Given the description of an element on the screen output the (x, y) to click on. 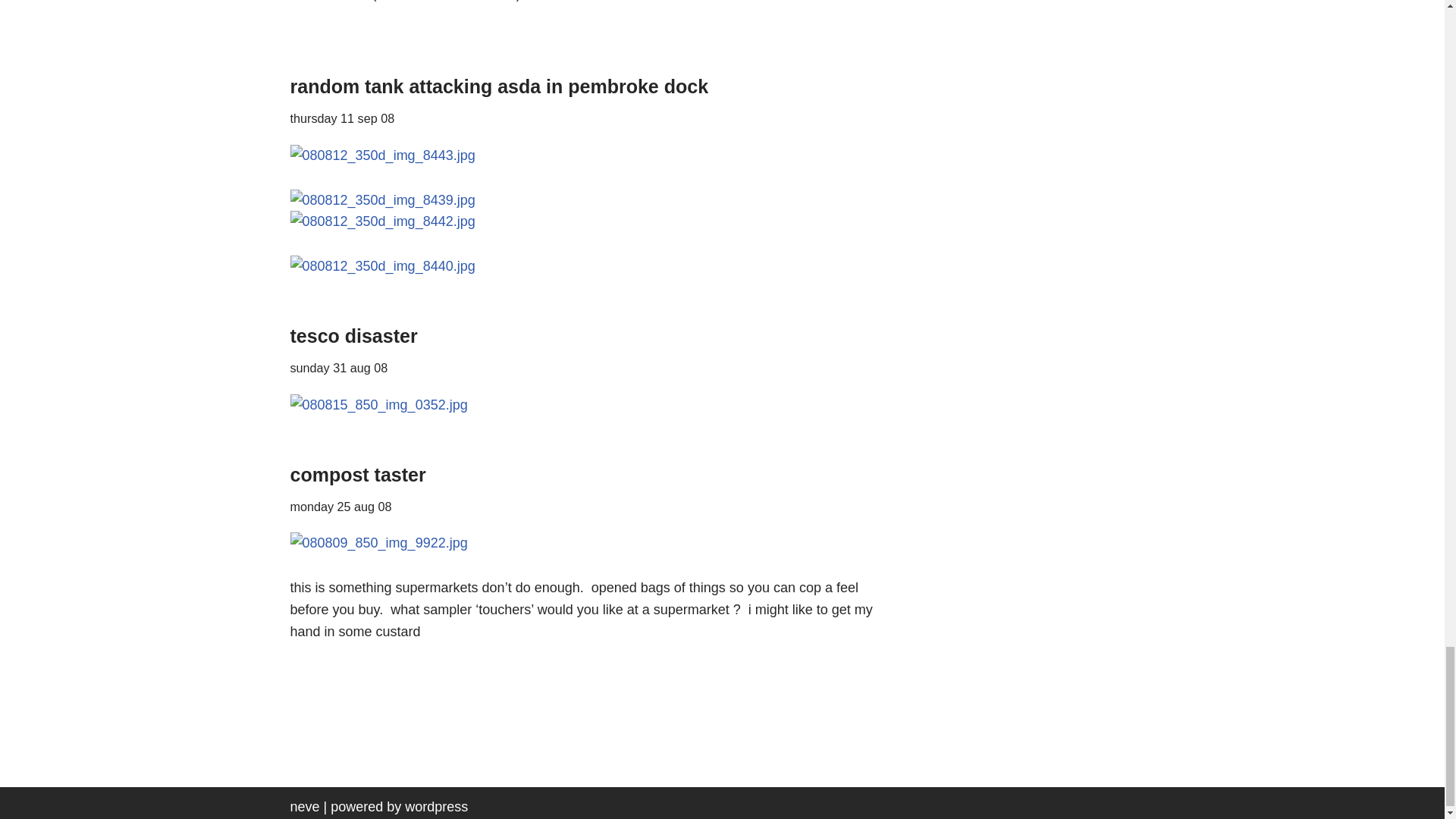
random tank attacking asda in pembroke dock (498, 86)
compost taster (357, 474)
tesco disaster (352, 335)
